Given the description of an element on the screen output the (x, y) to click on. 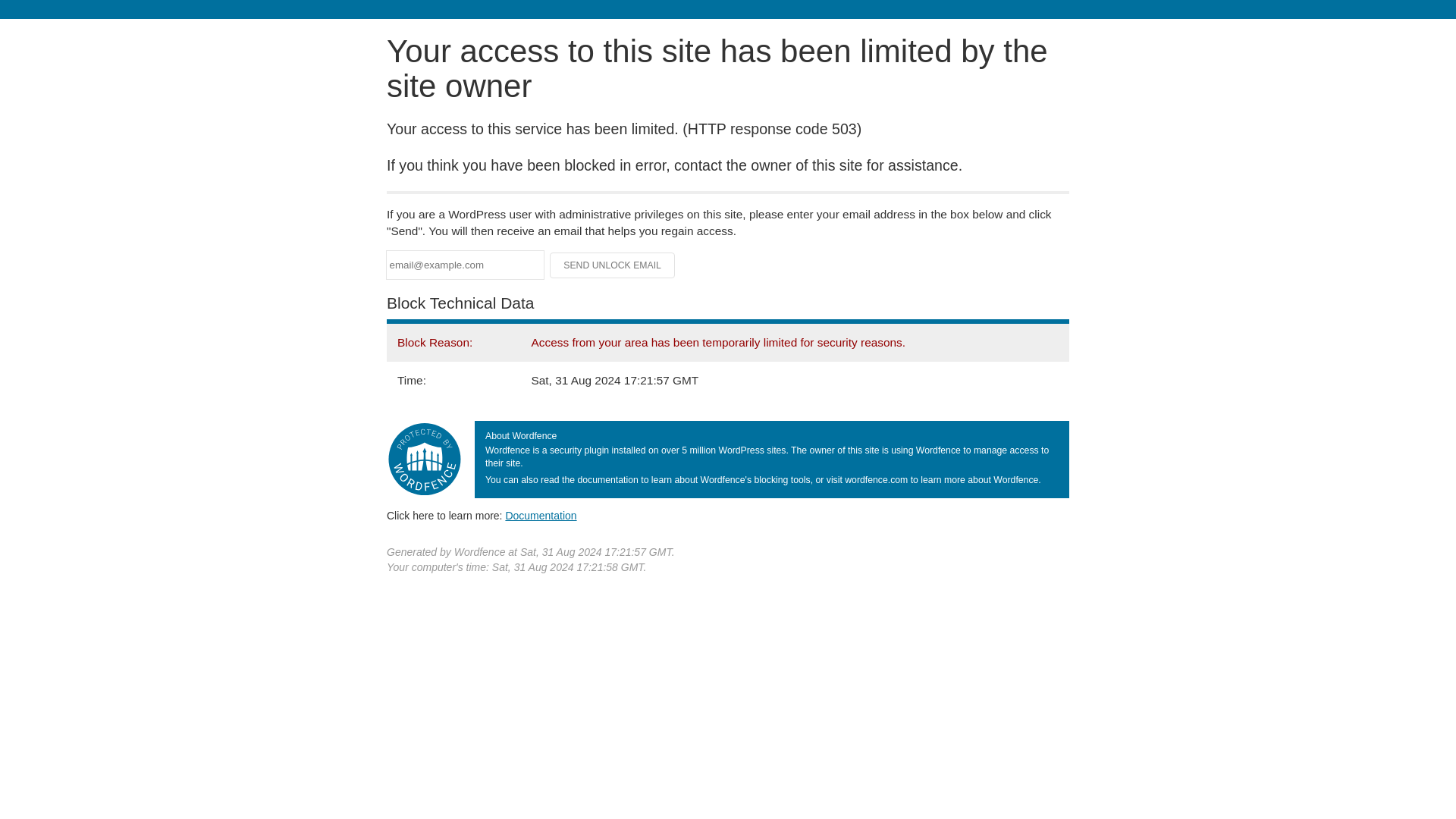
Documentation (540, 515)
Send Unlock Email (612, 265)
Send Unlock Email (612, 265)
